Given the description of an element on the screen output the (x, y) to click on. 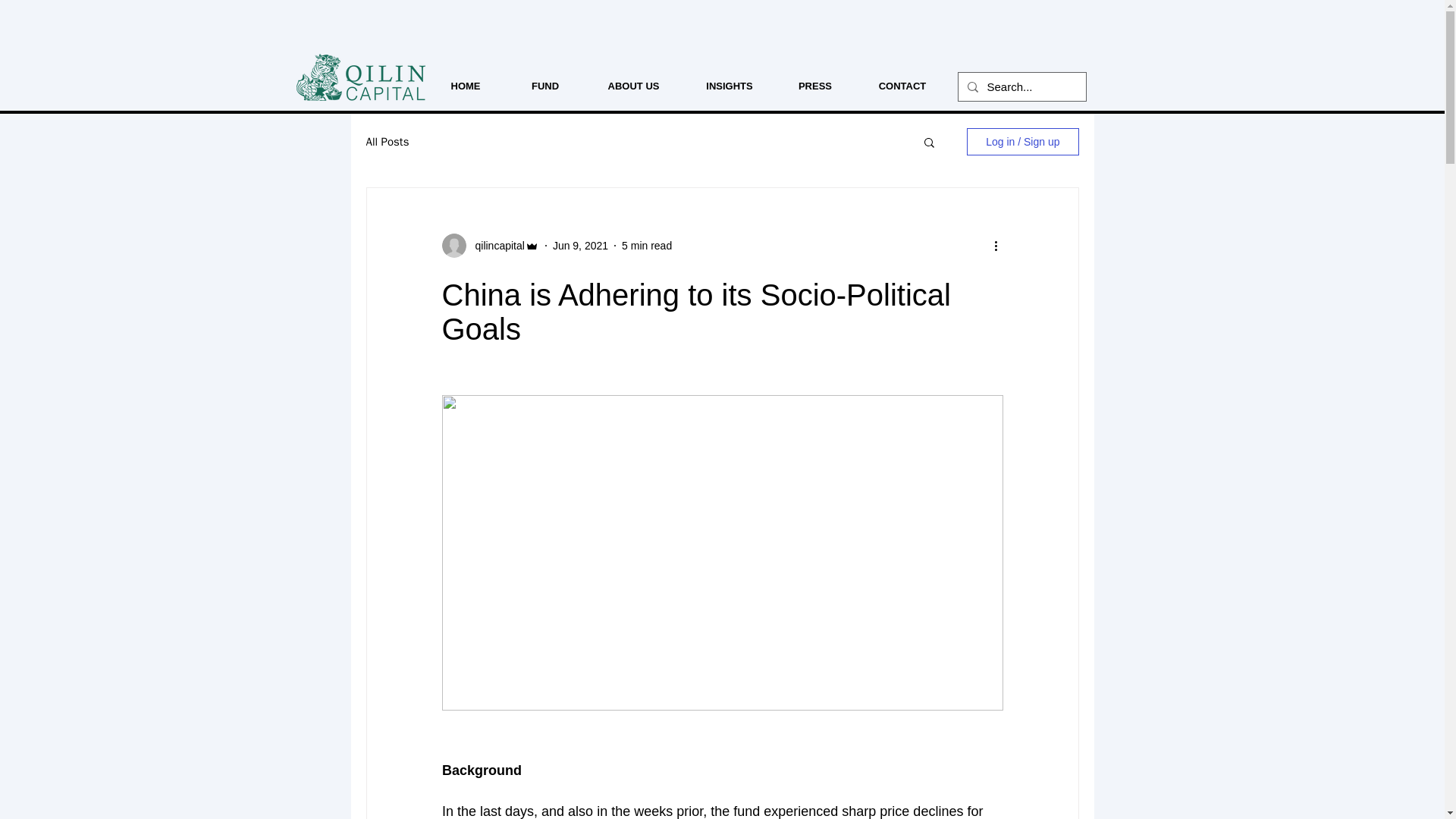
Jun 9, 2021 (580, 245)
5 min read (646, 245)
FUND (545, 86)
PRESS (815, 86)
HOME (465, 86)
ABOUT US (632, 86)
qilincapital (494, 245)
INSIGHTS (729, 86)
CONTACT (901, 86)
All Posts (387, 142)
